Given the description of an element on the screen output the (x, y) to click on. 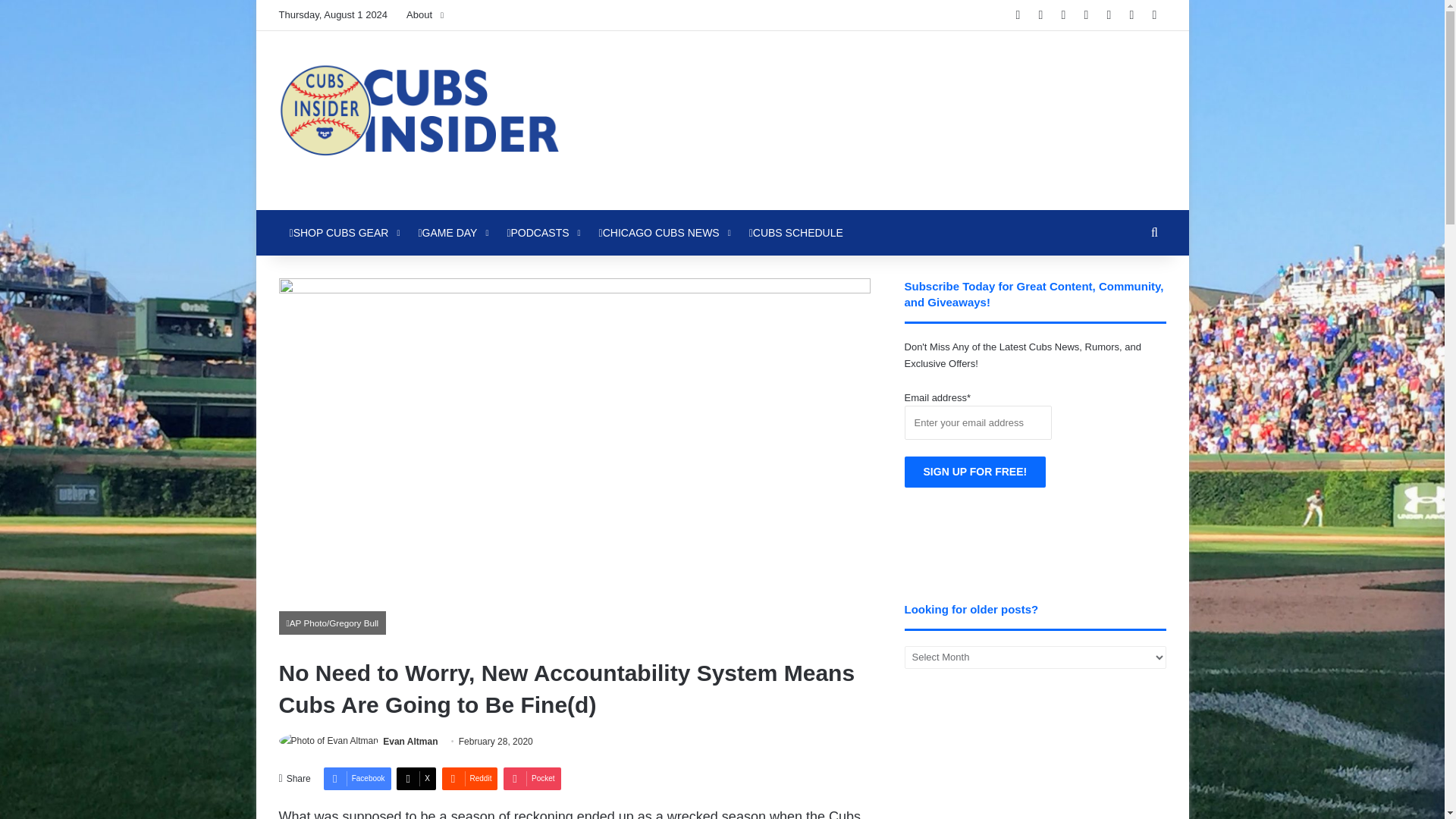
Evan Altman (410, 741)
SIGN UP FOR FREE! (975, 471)
Facebook (357, 778)
PODCASTS (542, 232)
Reddit (469, 778)
CHICAGO CUBS NEWS (663, 232)
X (415, 778)
Evan Altman (410, 741)
About (424, 15)
SHOP CUBS GEAR (343, 232)
X (415, 778)
Reddit (469, 778)
Pocket (531, 778)
Cubs Insider (419, 120)
Facebook (357, 778)
